Given the description of an element on the screen output the (x, y) to click on. 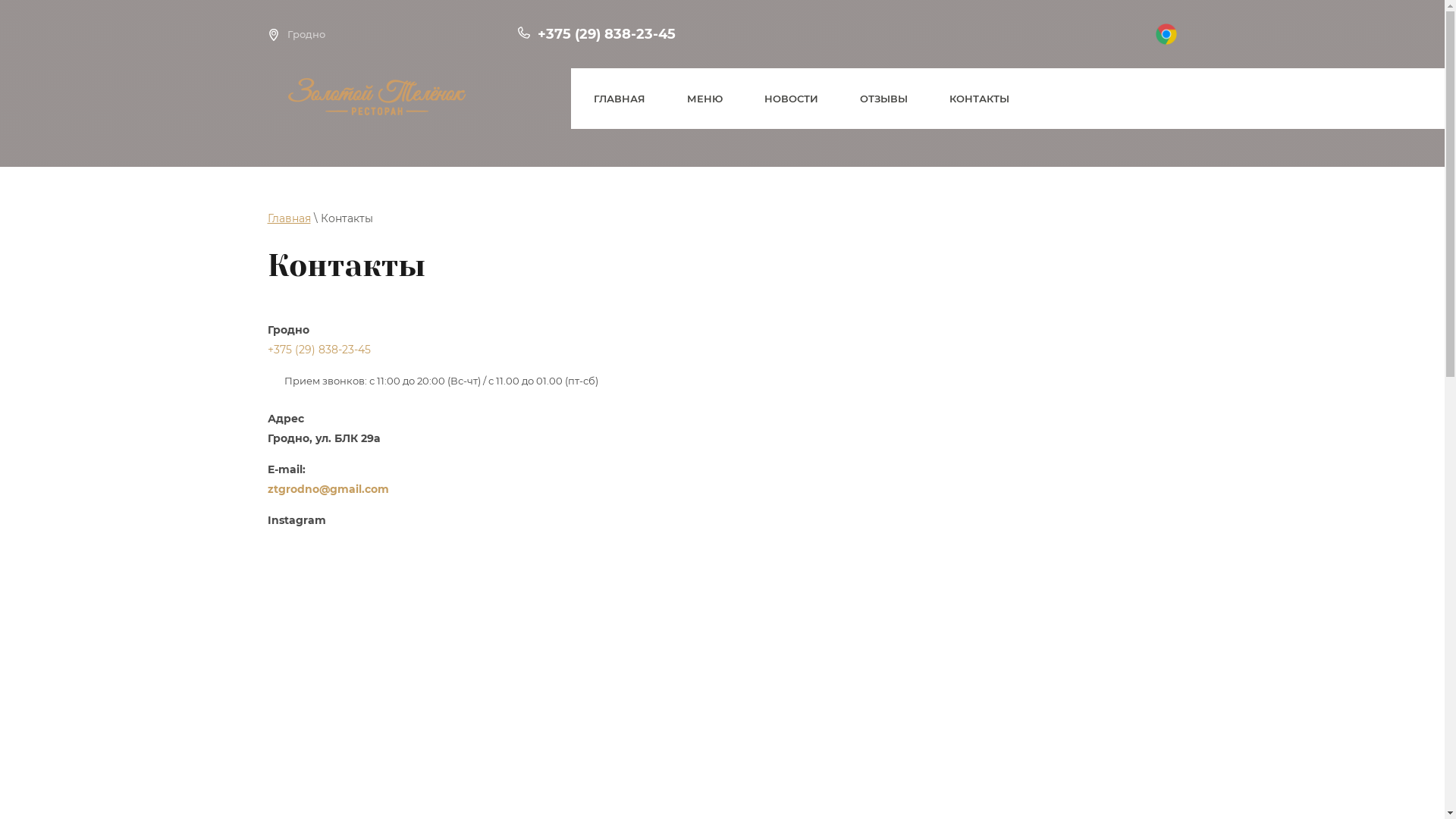
+375 (29) 838-23-45 Element type: text (318, 349)
ztgrodno@gmail.com Element type: text (327, 488)
+375 (29) 838-23-45 Element type: text (605, 33)
